Given the description of an element on the screen output the (x, y) to click on. 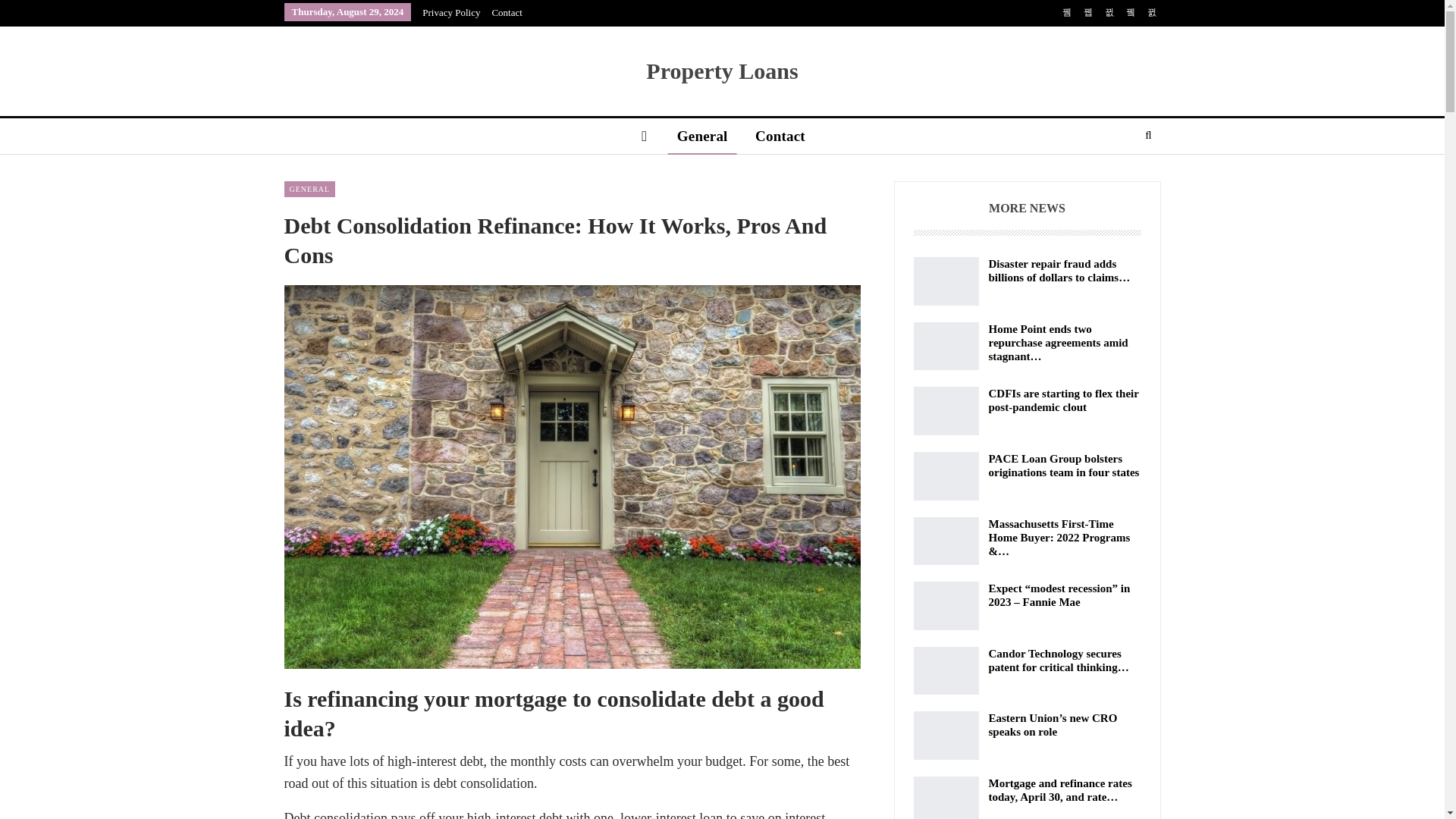
Privacy Policy (451, 12)
CDFIs are starting to flex their post-pandemic clout (945, 410)
PACE Loan Group bolsters originations team in four states (945, 476)
Contact (779, 135)
GENERAL (308, 188)
General (702, 135)
Property Loans (721, 70)
Contact (506, 12)
